Given the description of an element on the screen output the (x, y) to click on. 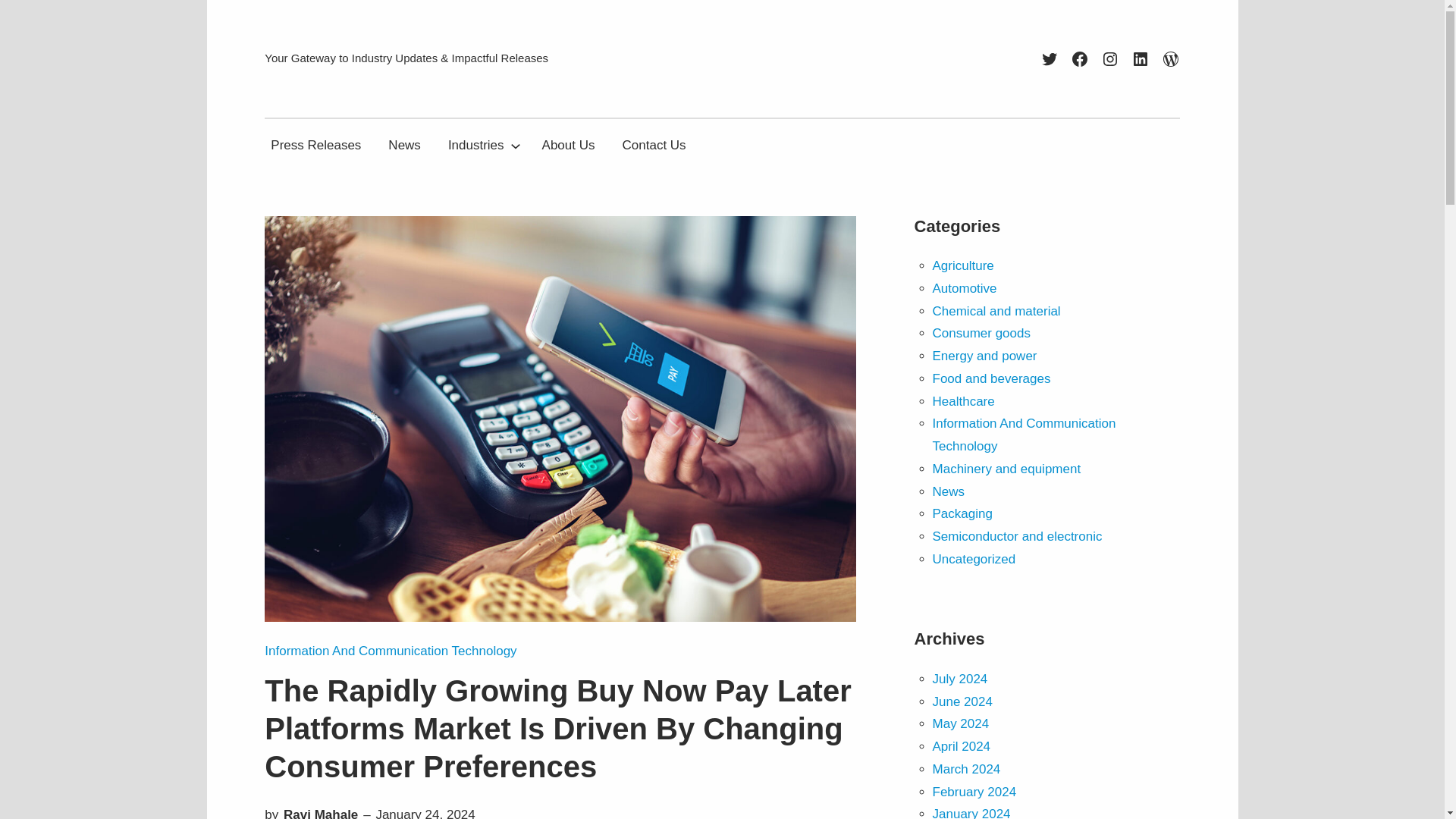
Information And Communication Technology (390, 650)
Contact Us (654, 144)
Facebook (1079, 58)
January 24, 2024 (424, 813)
Press Releases (315, 144)
Twitter (1049, 58)
LinkedIn (1140, 58)
About Us (568, 144)
Instagram (1109, 58)
WordPress (1170, 58)
Industries (476, 144)
Agriculture (963, 265)
